Given the description of an element on the screen output the (x, y) to click on. 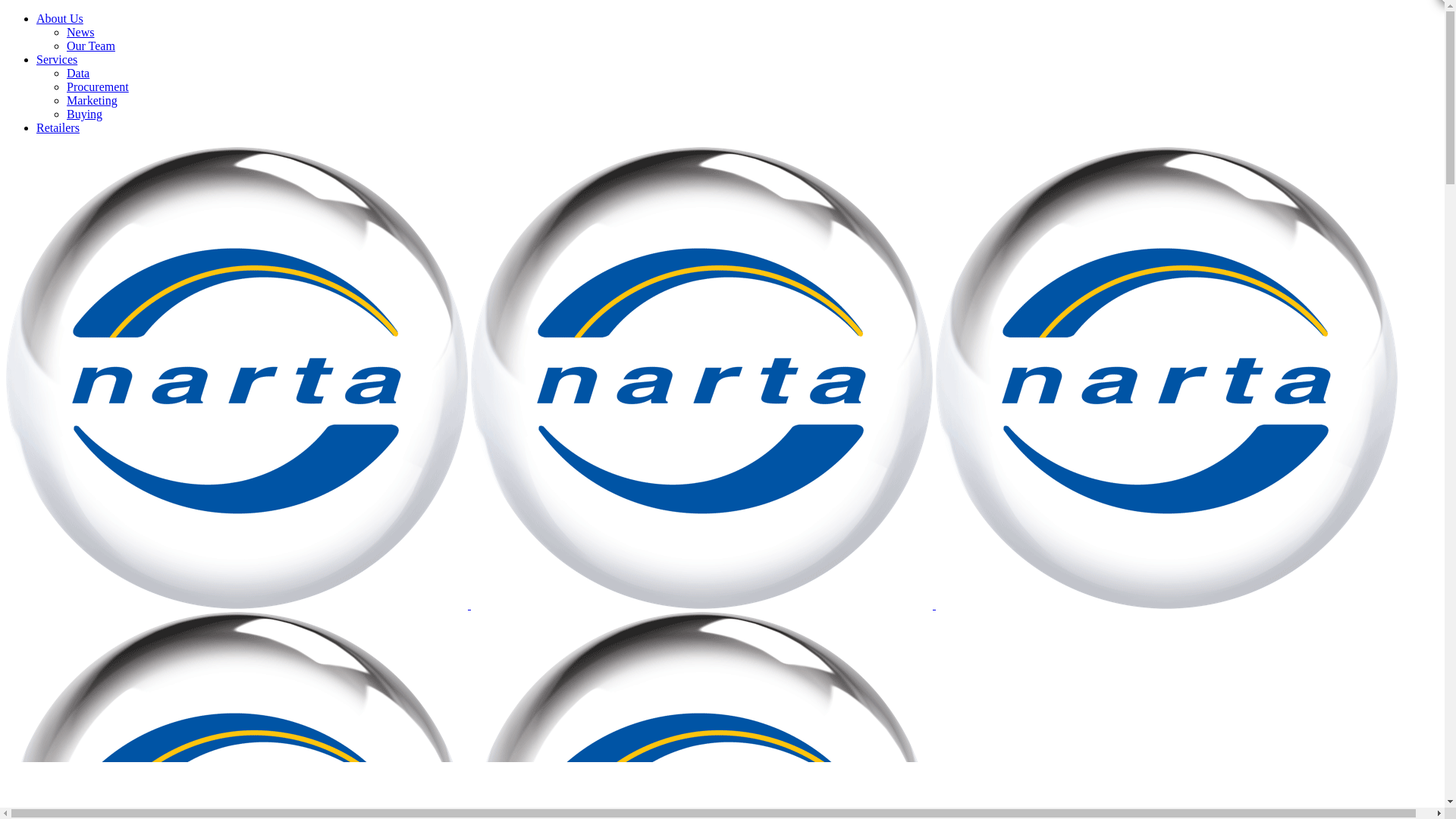
Services Element type: text (56, 59)
News Element type: text (80, 31)
Buying Element type: text (84, 113)
Retailers Element type: text (57, 127)
Data Element type: text (77, 72)
Marketing Element type: text (91, 100)
Procurement Element type: text (97, 86)
About Us Element type: text (59, 18)
Our Team Element type: text (90, 45)
